Given the description of an element on the screen output the (x, y) to click on. 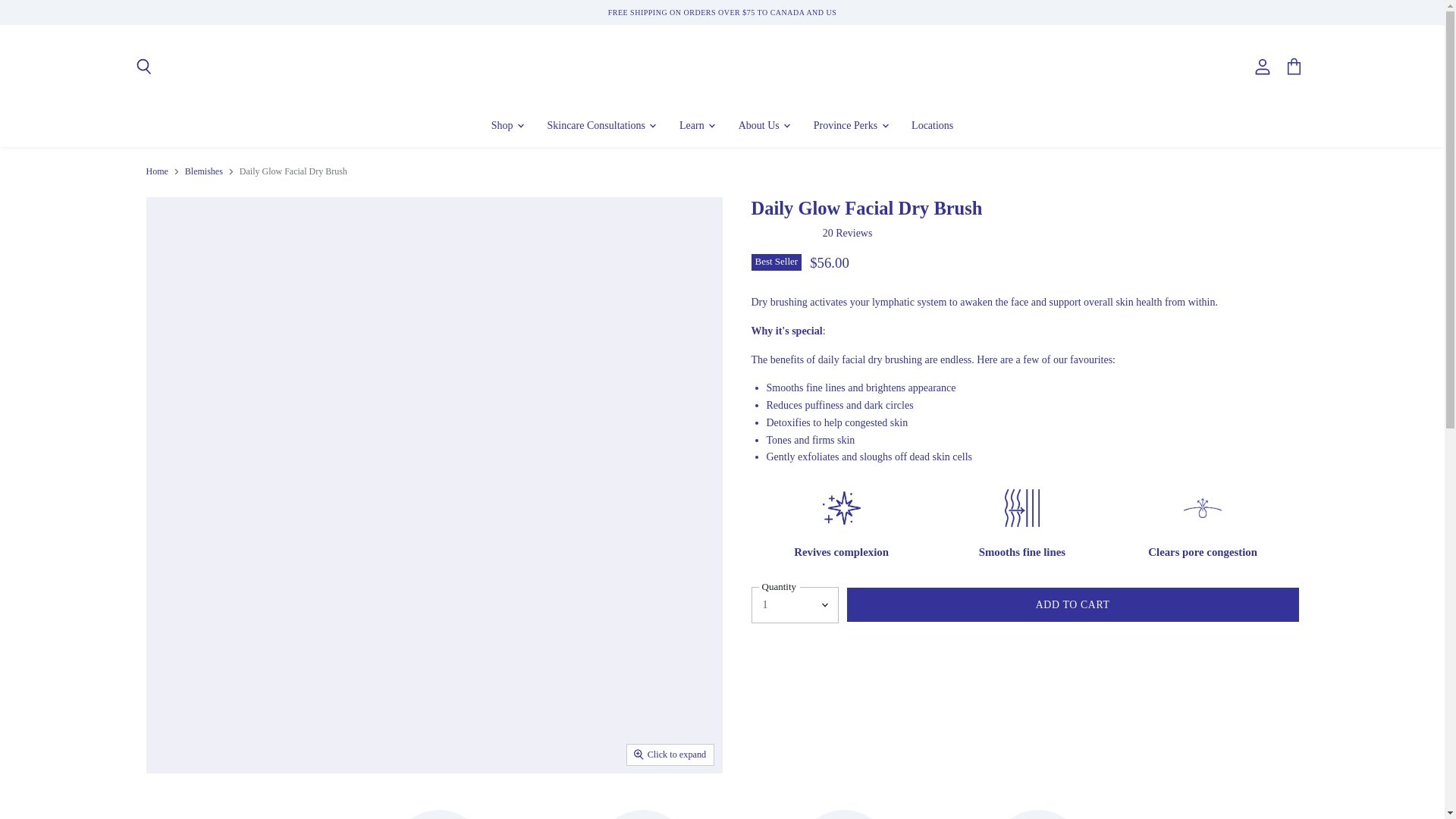
Shop (506, 124)
View account (1262, 67)
Search (143, 67)
